Given the description of an element on the screen output the (x, y) to click on. 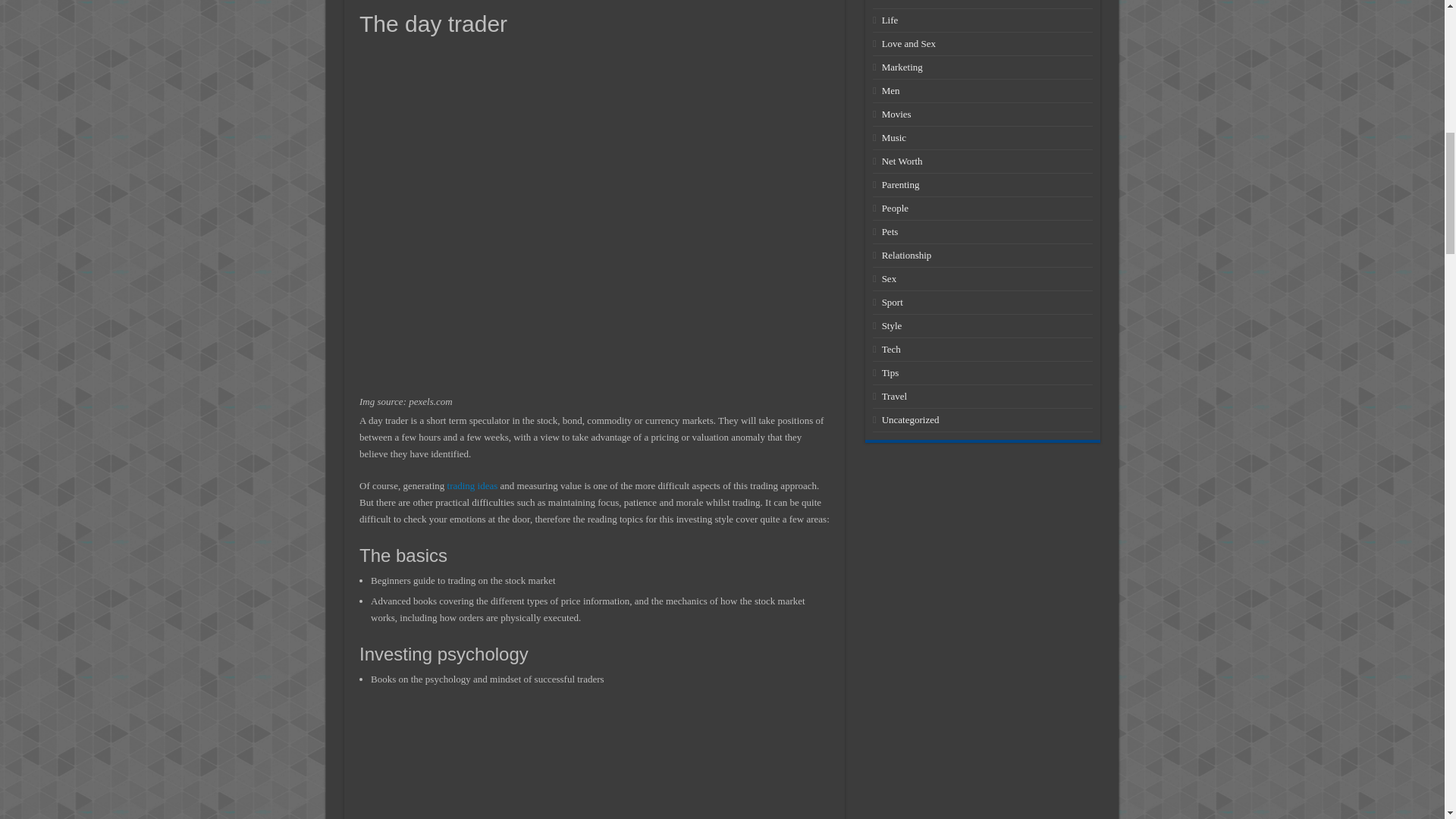
trading ideas (471, 485)
Scroll To Top (1421, 60)
